Given the description of an element on the screen output the (x, y) to click on. 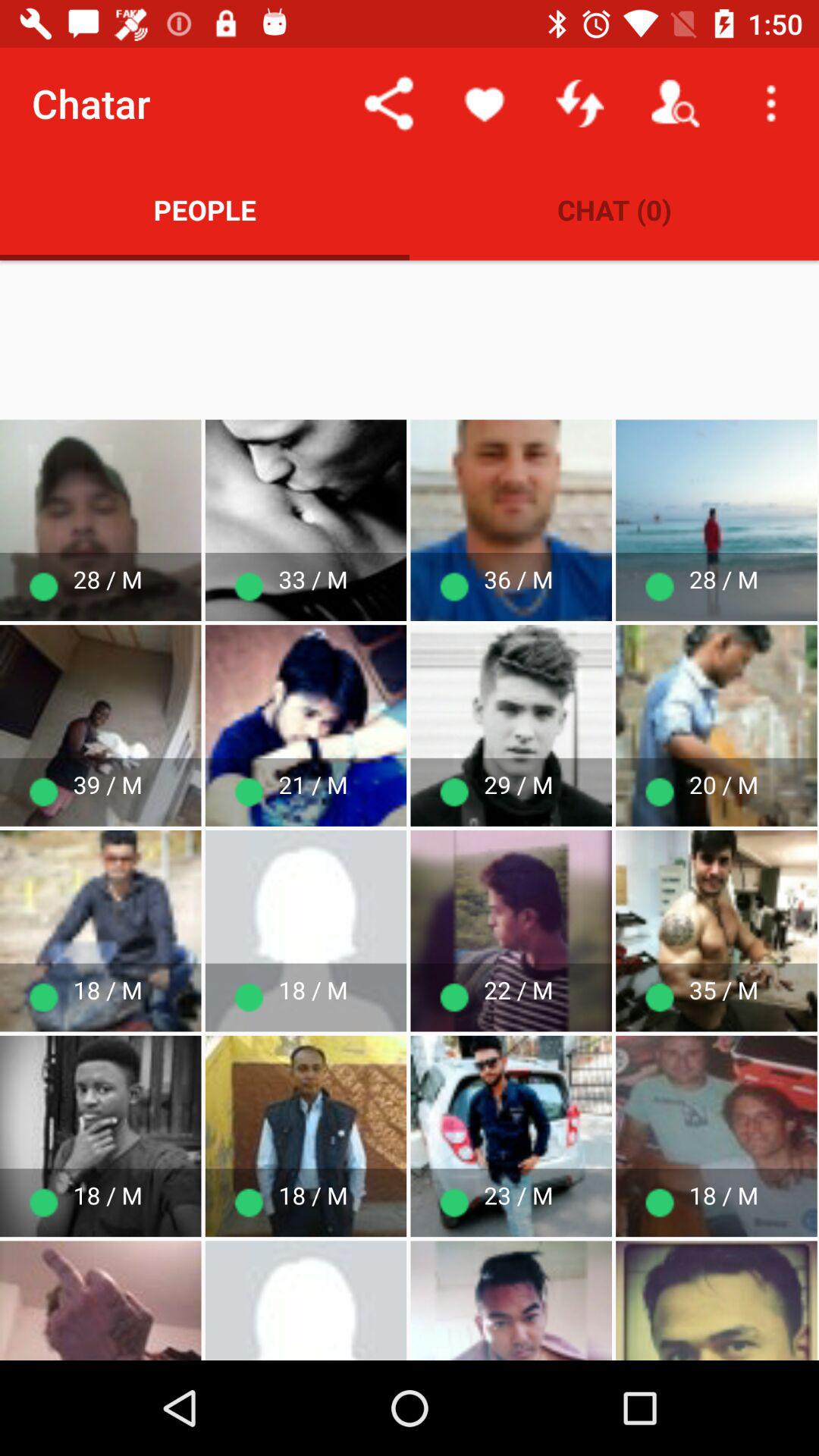
turn on the icon to the right of chatar (388, 103)
